Given the description of an element on the screen output the (x, y) to click on. 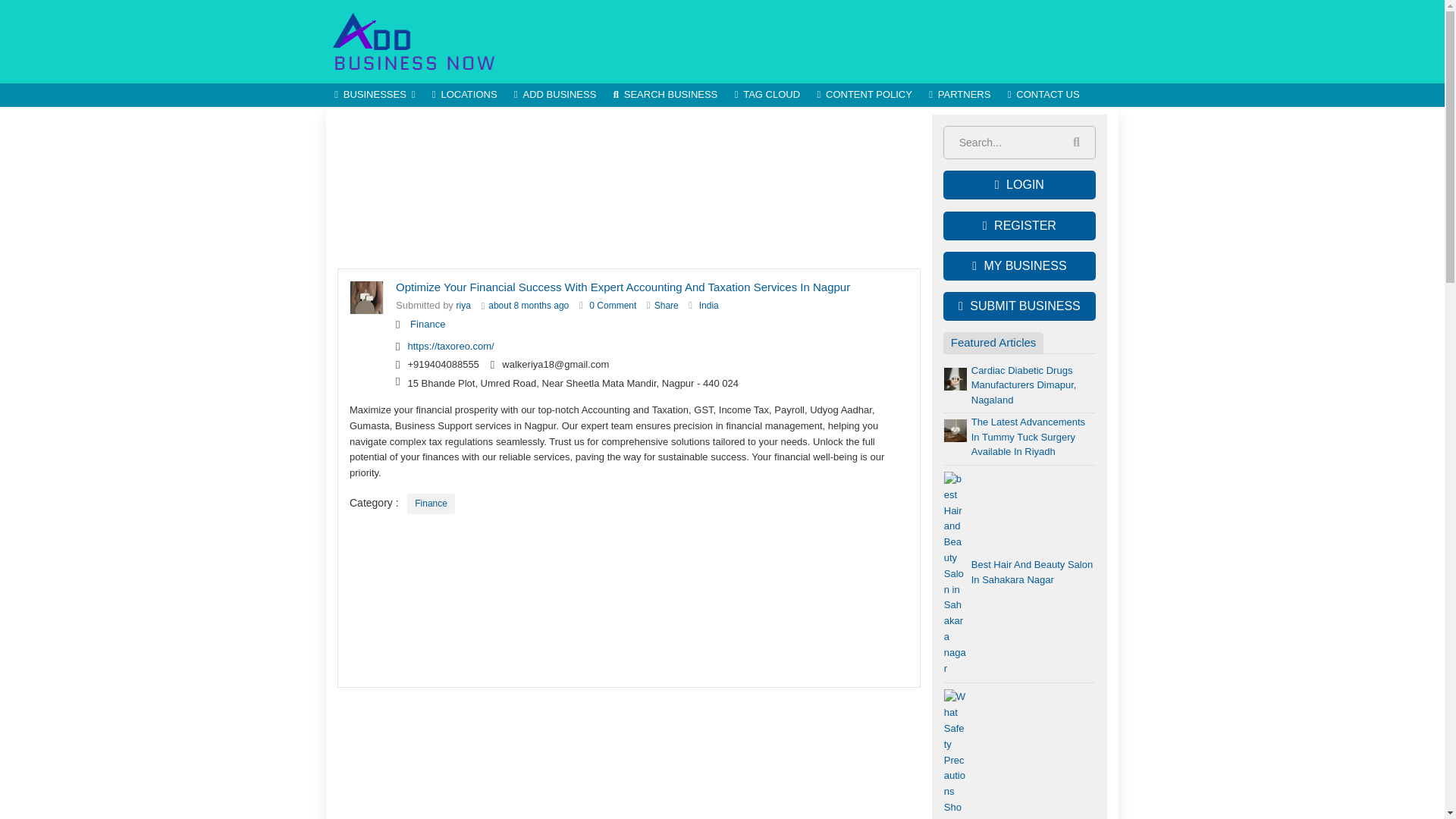
CONTENT POLICY (864, 95)
CONTACT US (1042, 95)
Finance (430, 503)
TAG CLOUD (766, 95)
Finance (427, 324)
India (708, 305)
about 8 months ago (528, 305)
about 8 months ago (528, 305)
SEARCH BUSINESS (665, 95)
riya18 (463, 305)
